Given the description of an element on the screen output the (x, y) to click on. 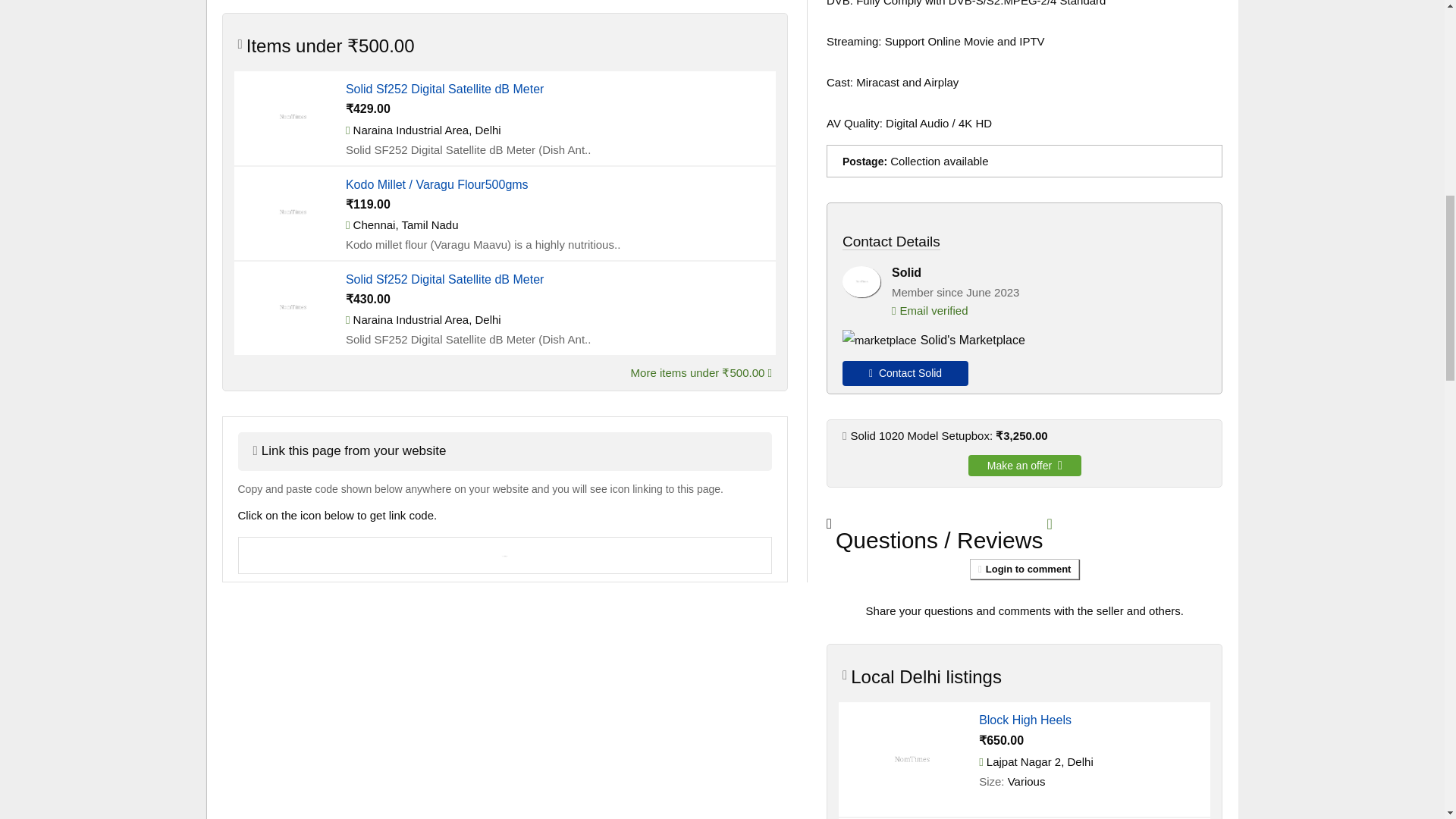
Classified (290, 210)
Classified (290, 115)
Classified (290, 305)
